Given the description of an element on the screen output the (x, y) to click on. 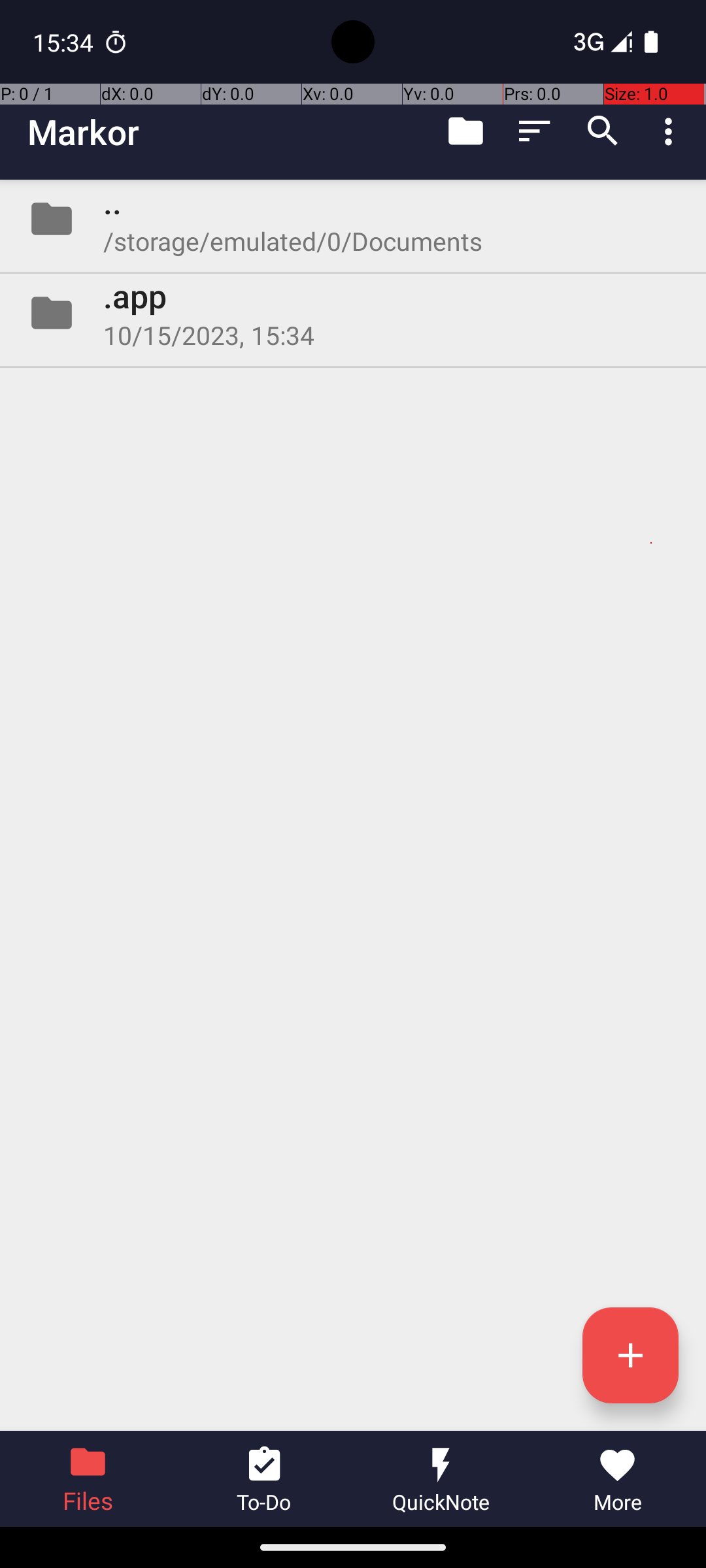
Folder .app  Element type: android.widget.LinearLayout (353, 312)
